Given the description of an element on the screen output the (x, y) to click on. 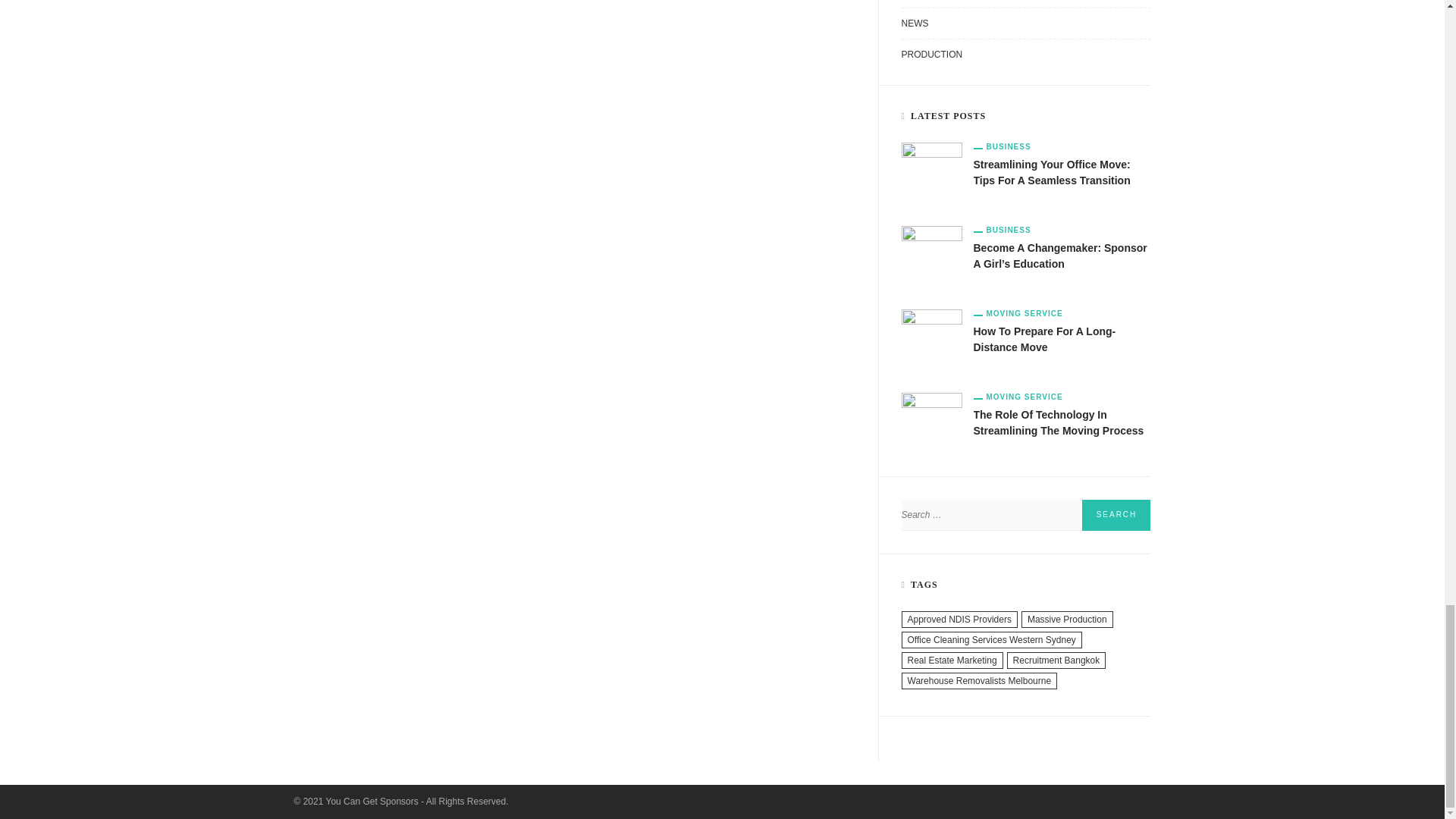
Search (1115, 514)
Search (1115, 514)
